Given the description of an element on the screen output the (x, y) to click on. 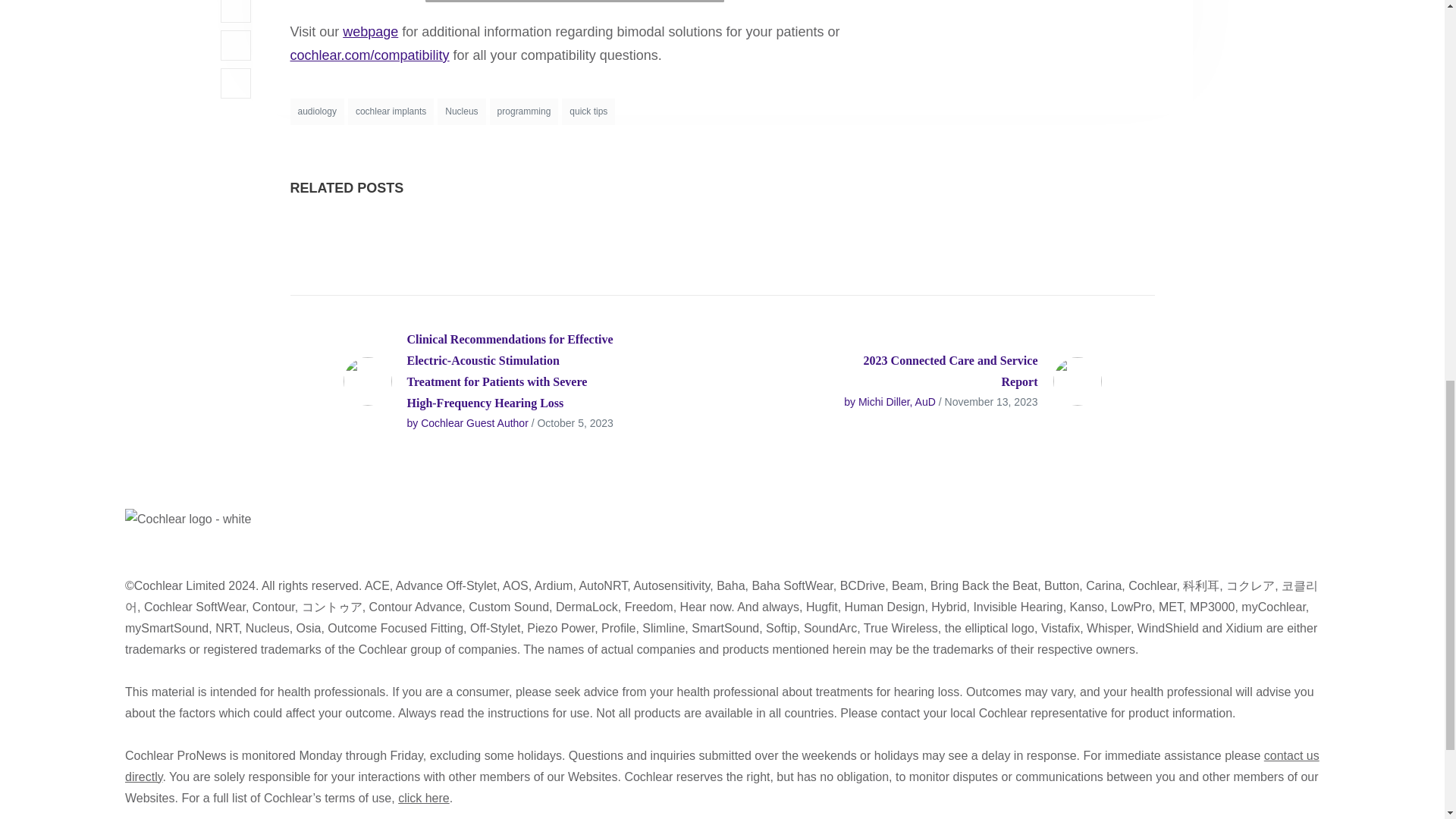
audiology (316, 111)
quick tips (588, 111)
Nucleus (461, 111)
cochlear implants (390, 111)
programming (524, 111)
webpage (369, 31)
